Given the description of an element on the screen output the (x, y) to click on. 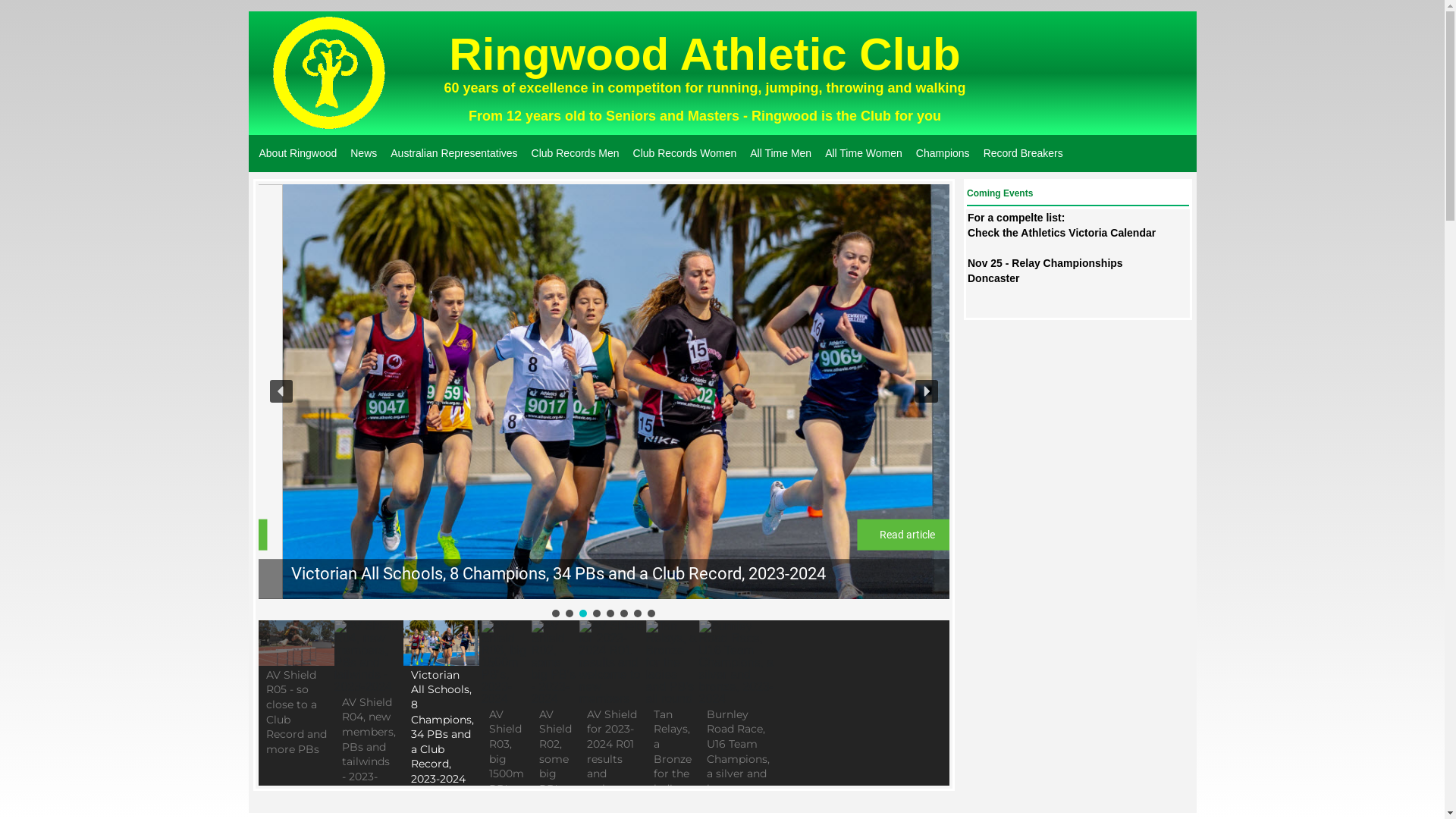
News Element type: text (363, 153)
AV Shield R04, new members, PBs and tailwinds - 2023-2024 Element type: text (486, 573)
All Time Men Element type: text (780, 153)
Club Records Men Element type: text (575, 153)
About Ringwood Element type: text (298, 153)
Club Records Women Element type: text (685, 153)
All Time Women Element type: text (863, 153)
Record Breakers Element type: text (1023, 153)
Champions Element type: text (942, 153)
Australian Representatives Element type: text (453, 153)
Read article Element type: text (882, 534)
